Given the description of an element on the screen output the (x, y) to click on. 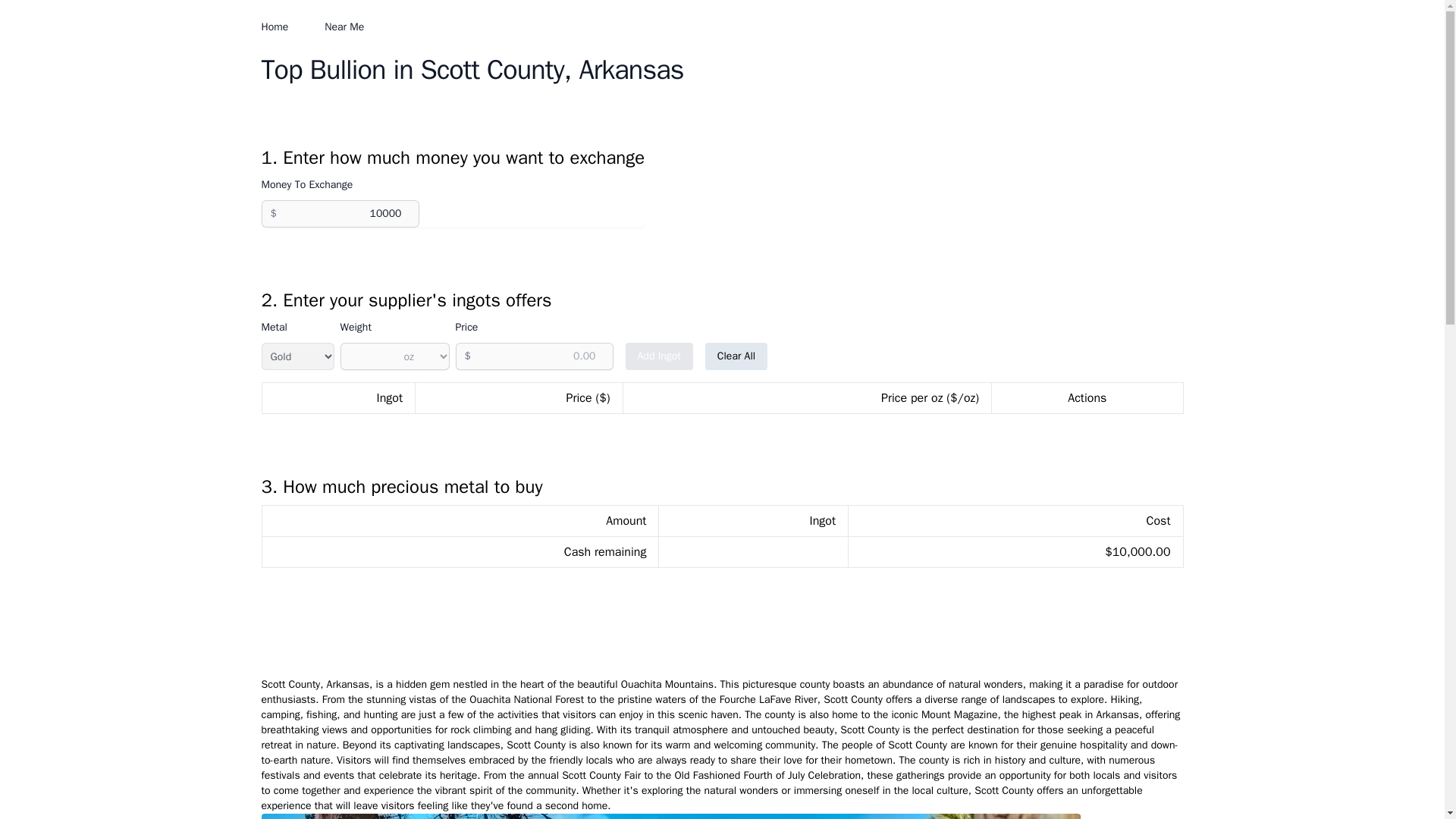
Near Me (344, 27)
Arkansas (630, 69)
Home (274, 27)
Add Ingot (658, 356)
10000 (339, 213)
Clear All (735, 356)
BullionGenius (260, 26)
